Given the description of an element on the screen output the (x, y) to click on. 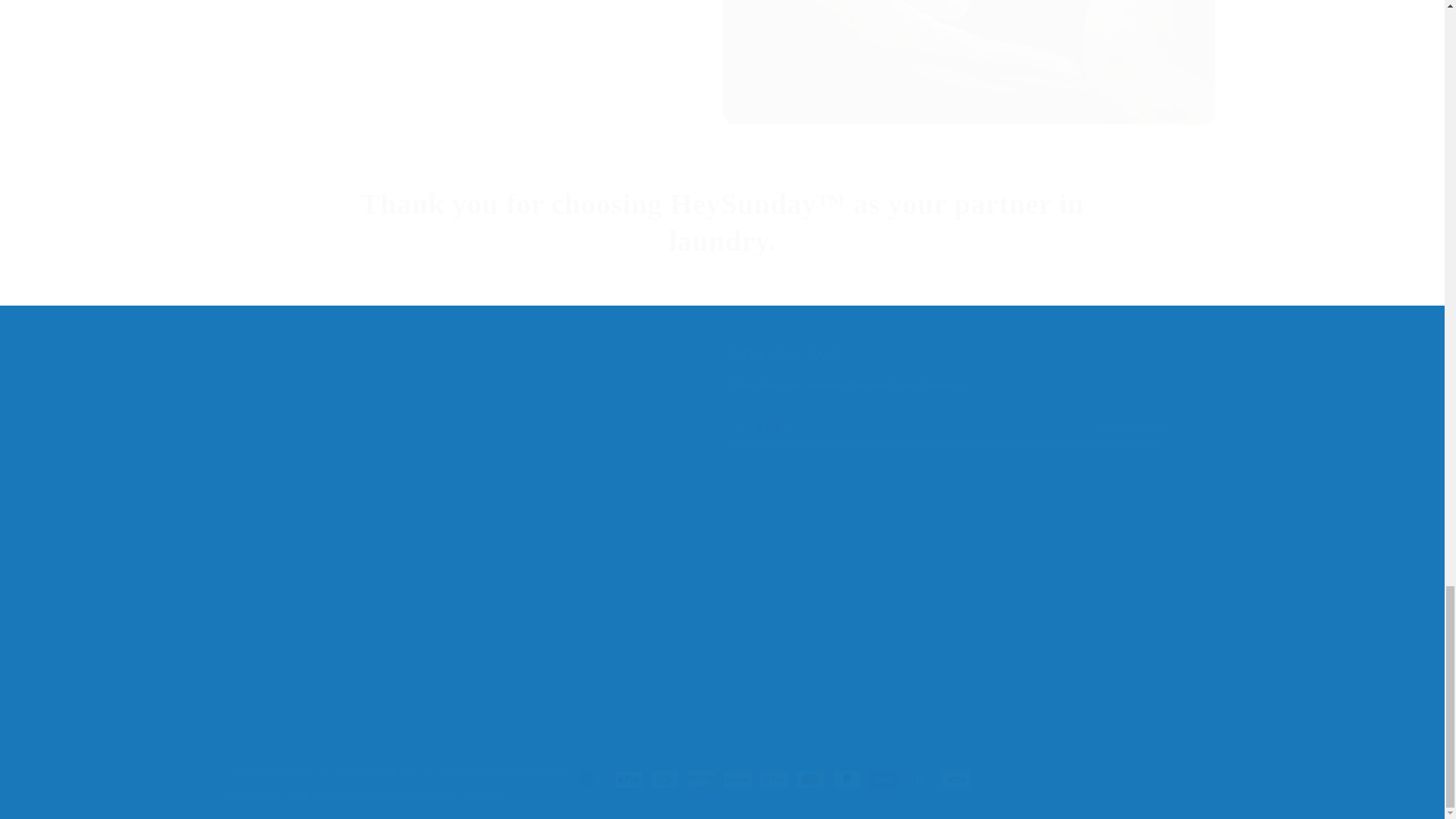
Refund Policy (263, 665)
Terms of Service (271, 586)
Eco-Warrior Scholarship (290, 559)
Help Center (258, 532)
Learn (243, 692)
Partner with Us (268, 479)
HeySunday (288, 771)
Shop (242, 427)
SUBSCRIBE (1129, 427)
